Given the description of an element on the screen output the (x, y) to click on. 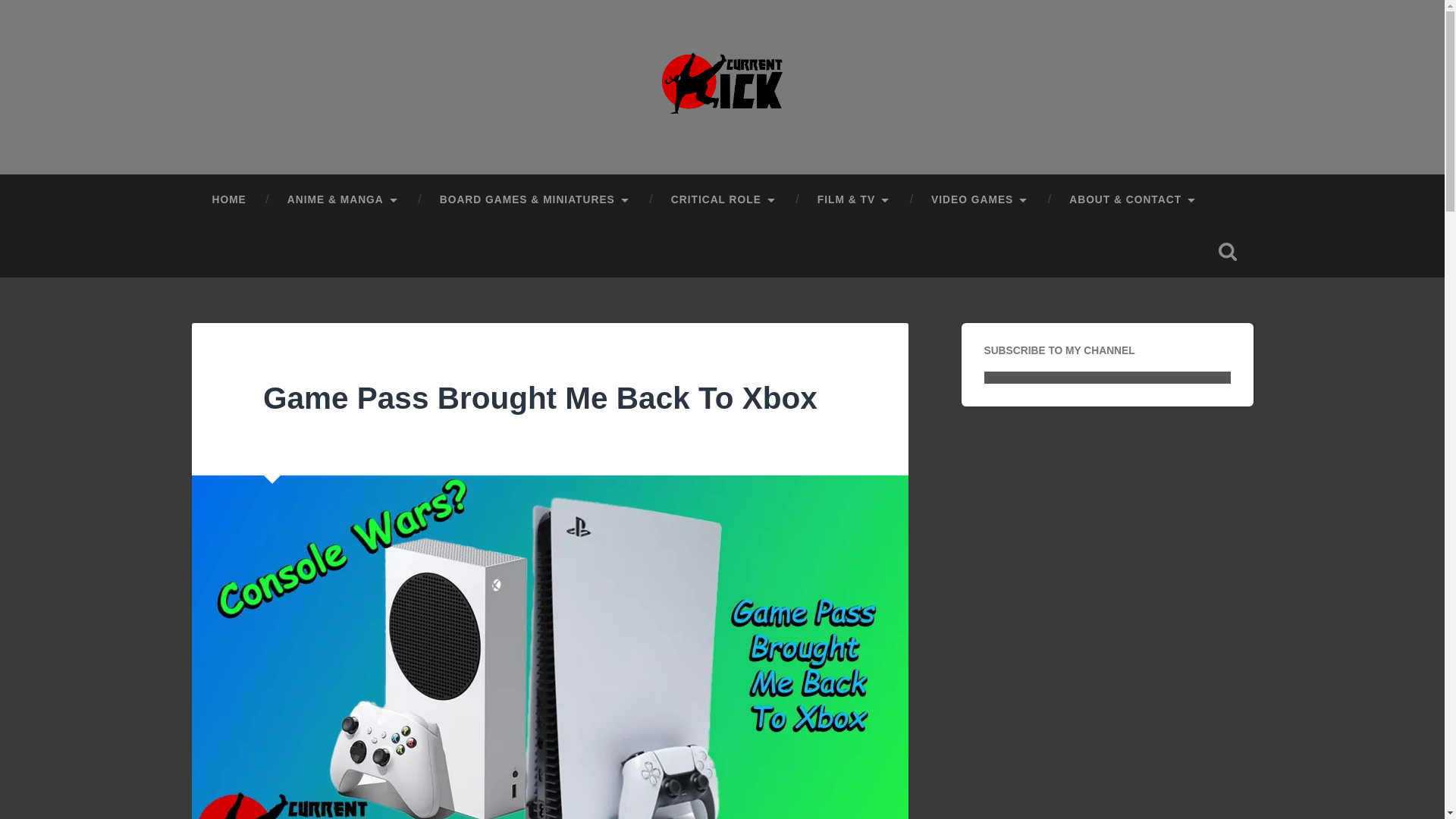
VIDEO GAMES (979, 200)
HOME (228, 200)
CRITICAL ROLE (723, 200)
